Given the description of an element on the screen output the (x, y) to click on. 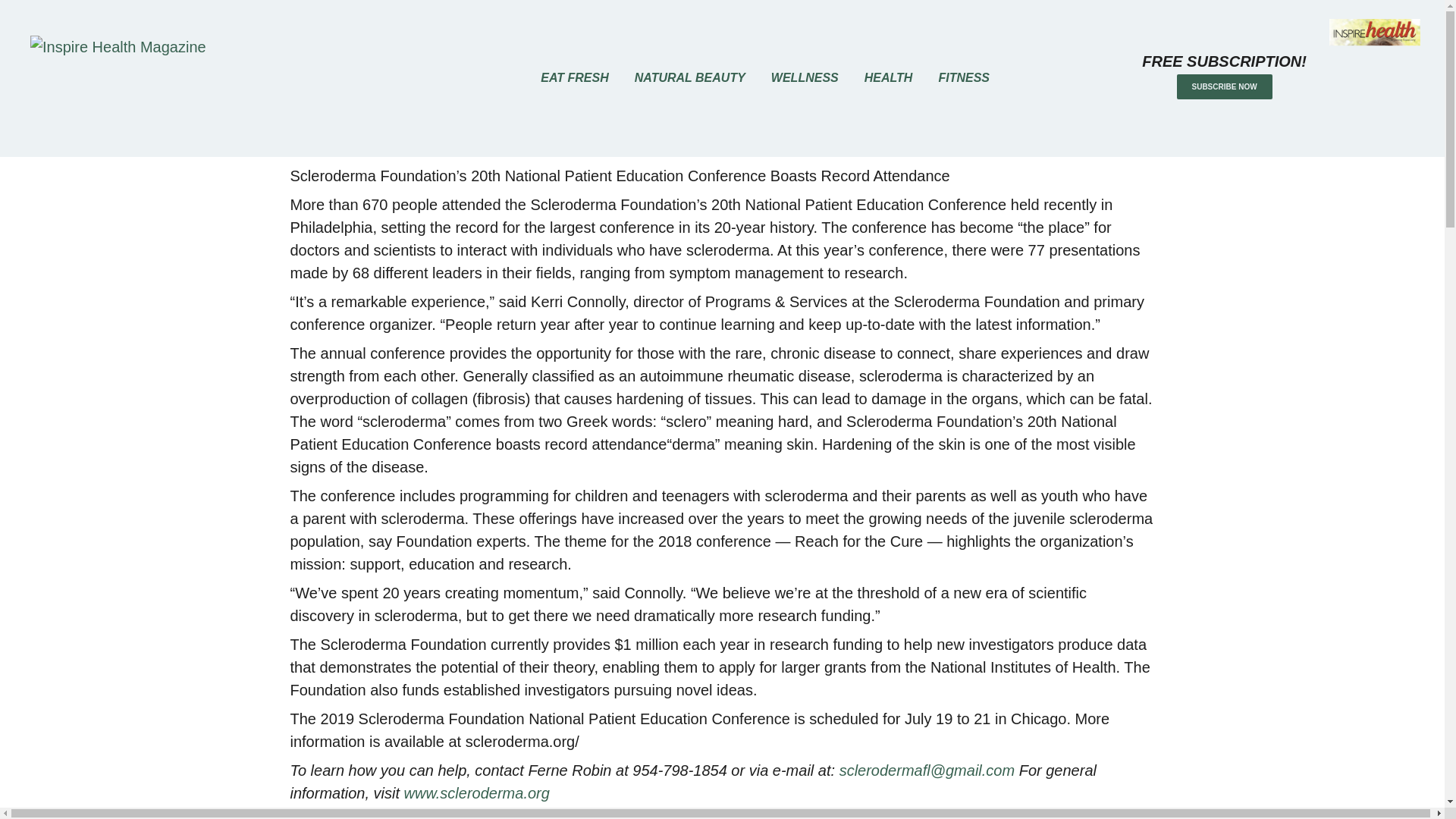
EAT FRESH (574, 78)
www.scleroderma.org (477, 792)
HEALTH (888, 78)
FITNESS (963, 78)
SUBSCRIBE NOW (1224, 86)
WELLNESS (804, 78)
NATURAL BEAUTY (689, 78)
